Given the description of an element on the screen output the (x, y) to click on. 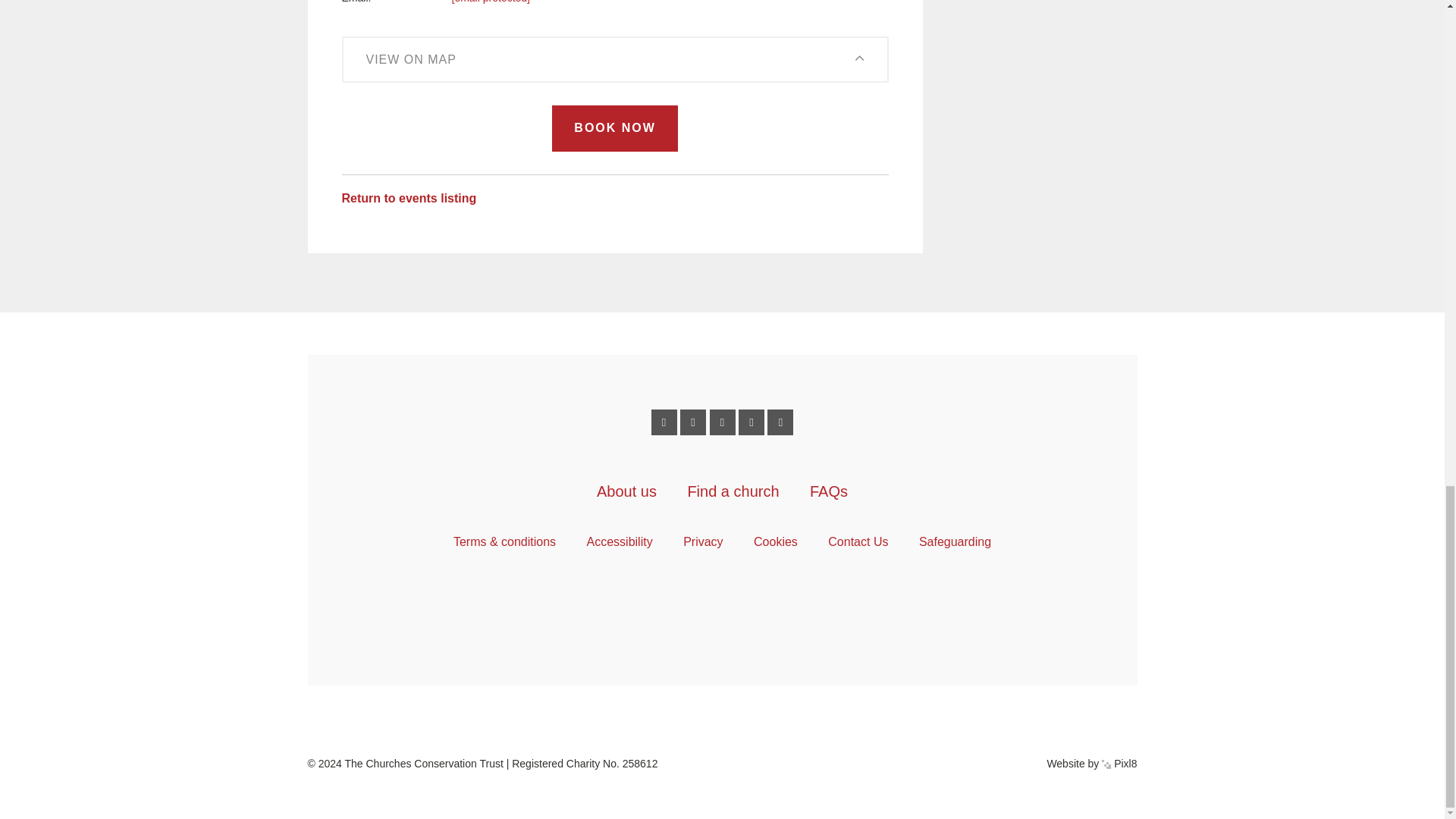
National Churches Trust Instagram (751, 421)
Facebok (663, 421)
Cookies (775, 541)
YouTube channel (780, 421)
Contact Us (858, 541)
Accessibility (619, 541)
Find a church (732, 491)
Privacy (702, 541)
About us (626, 491)
FAQs (828, 491)
